Given the description of an element on the screen output the (x, y) to click on. 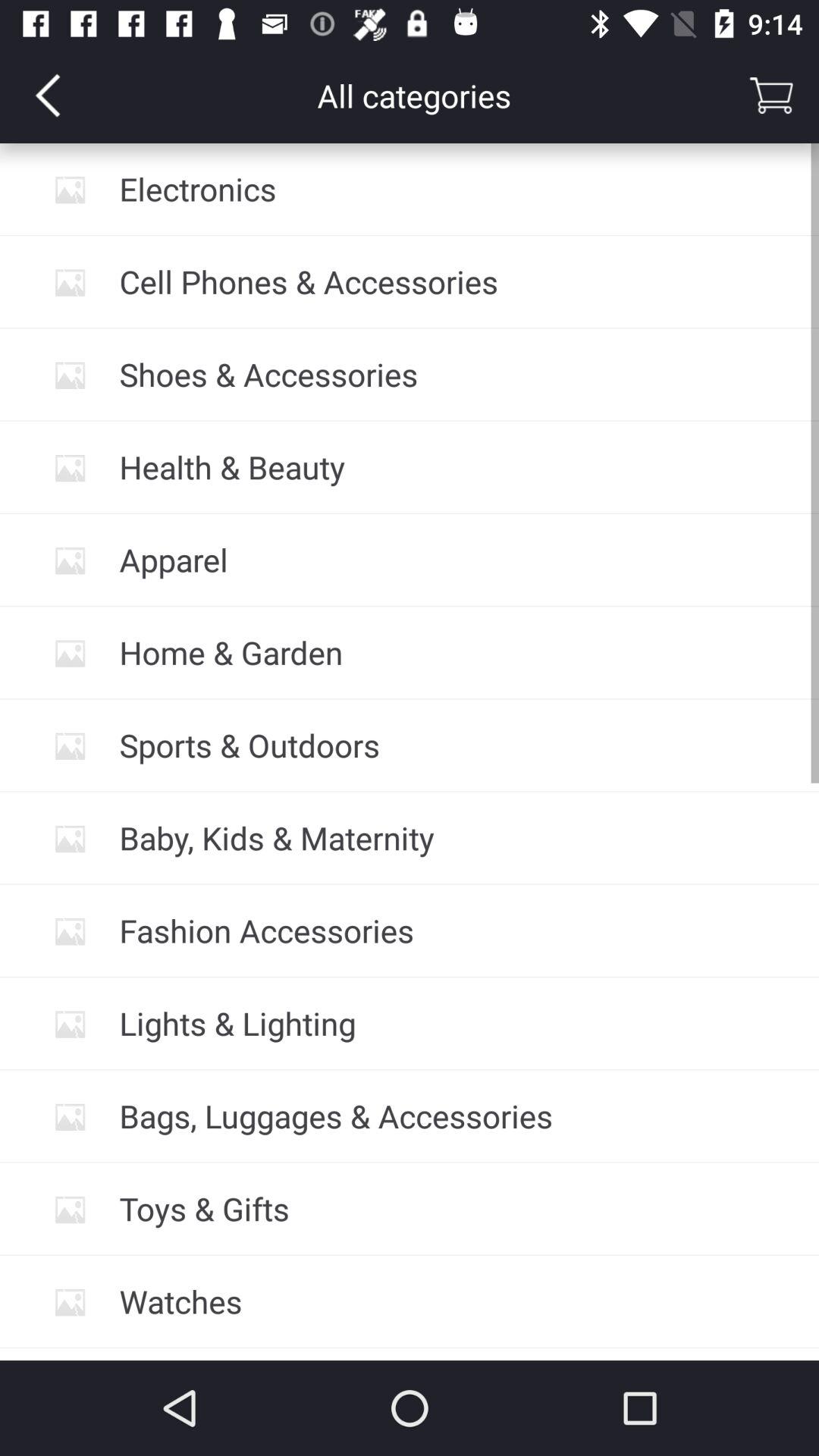
go back (47, 95)
